Given the description of an element on the screen output the (x, y) to click on. 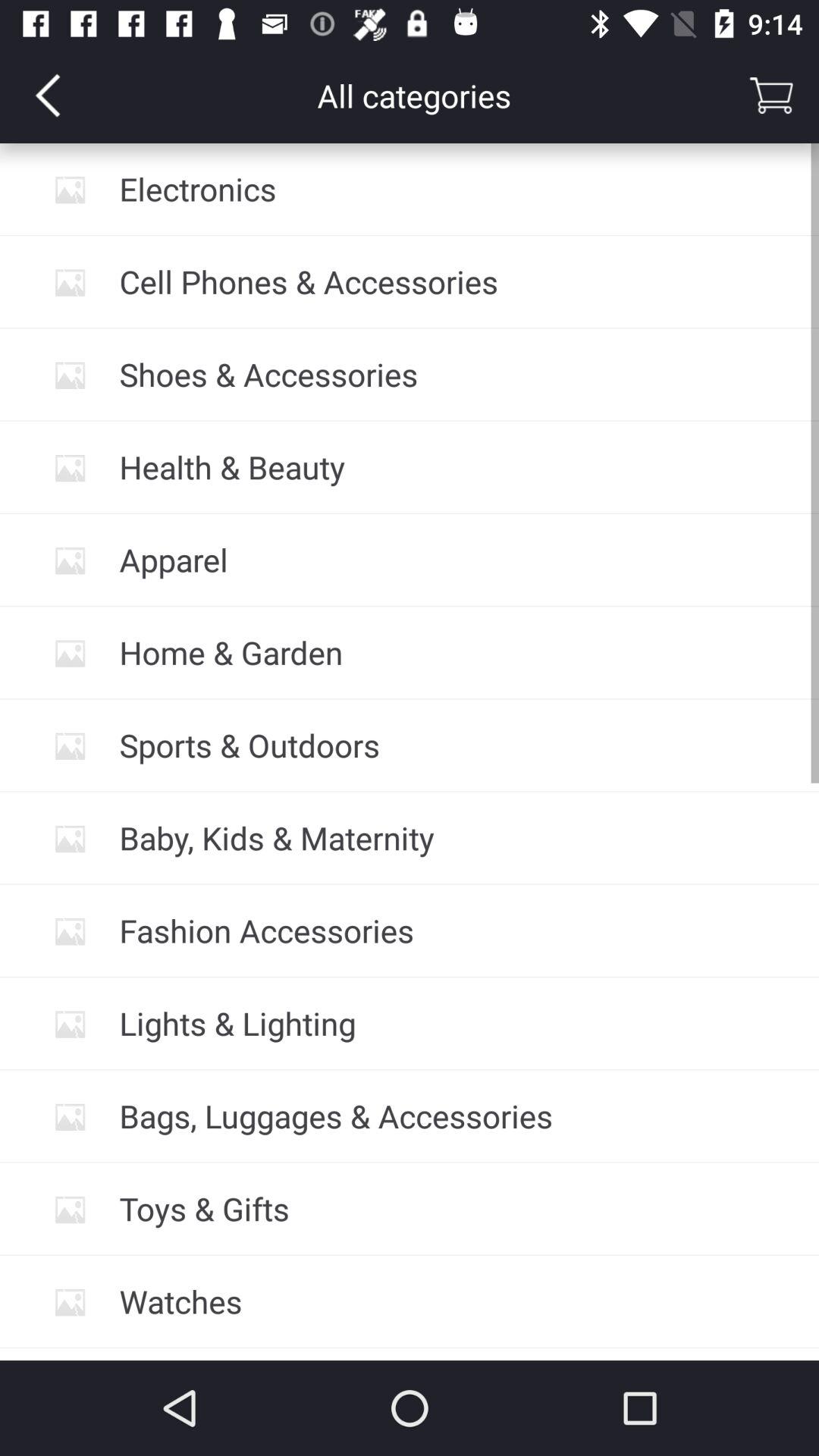
go back (47, 95)
